Given the description of an element on the screen output the (x, y) to click on. 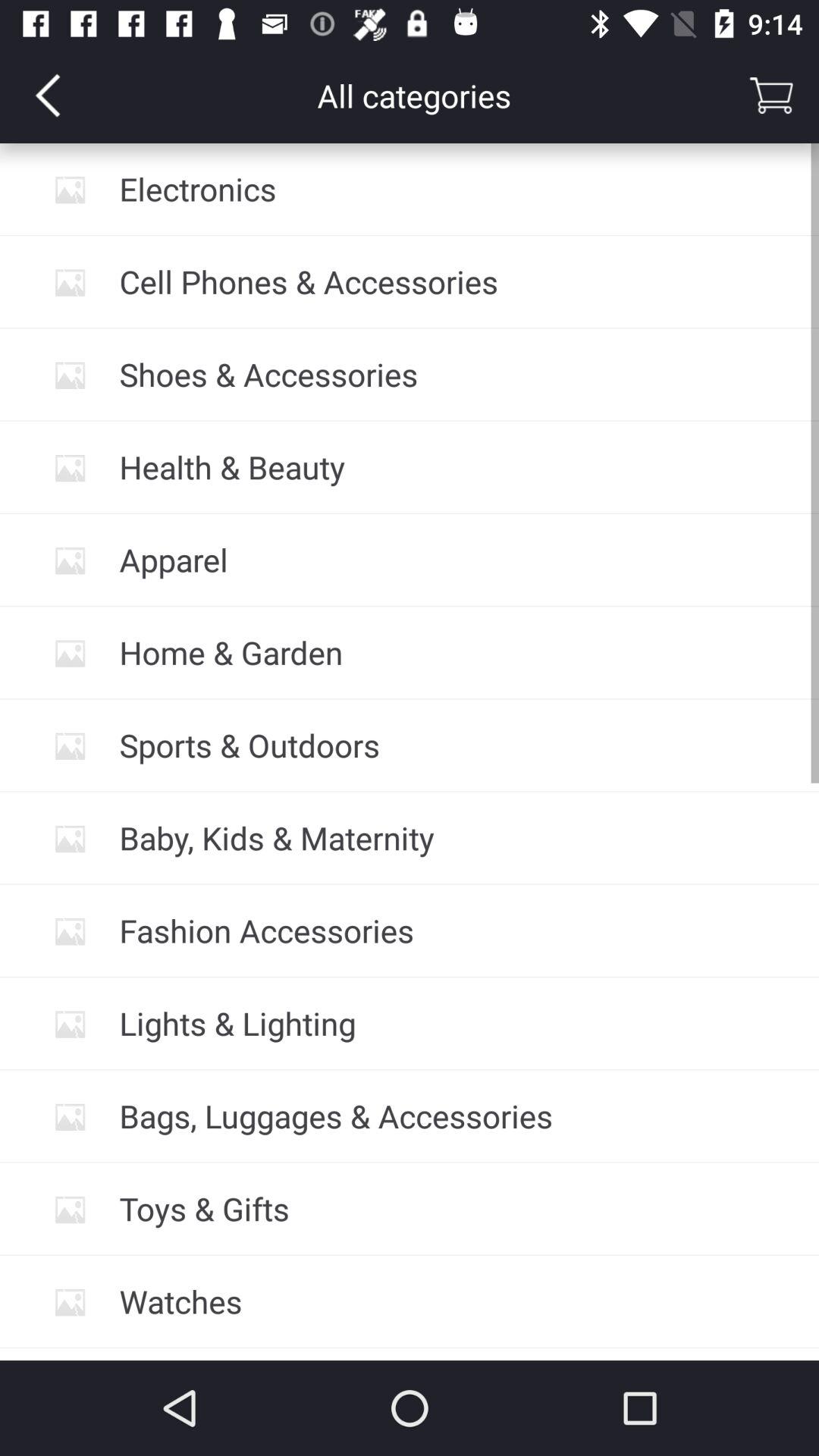
go back (47, 95)
